Given the description of an element on the screen output the (x, y) to click on. 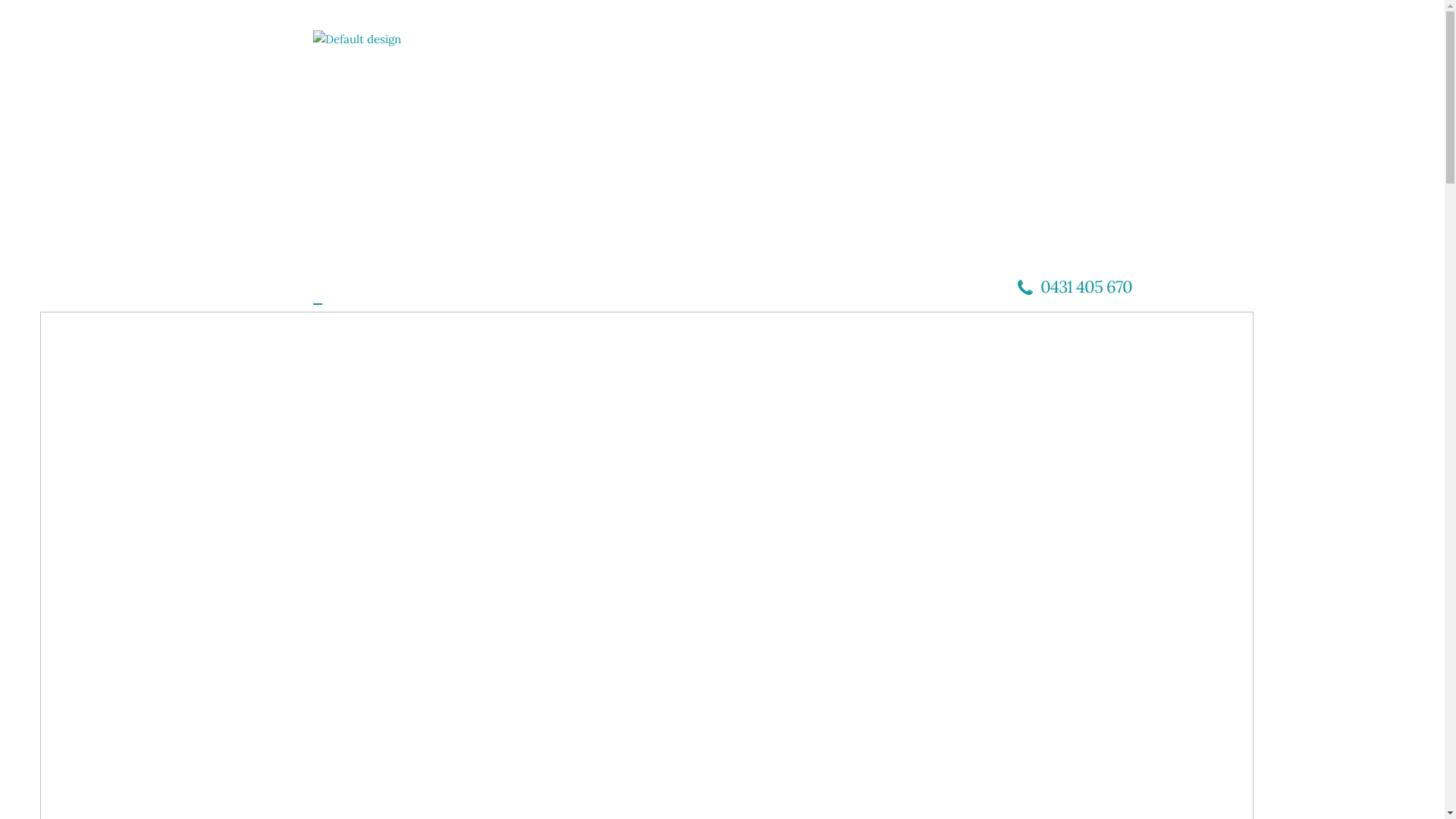
0431 405 670 Element type: text (1074, 286)
Toggle navigation Element type: text (316, 303)
